Given the description of an element on the screen output the (x, y) to click on. 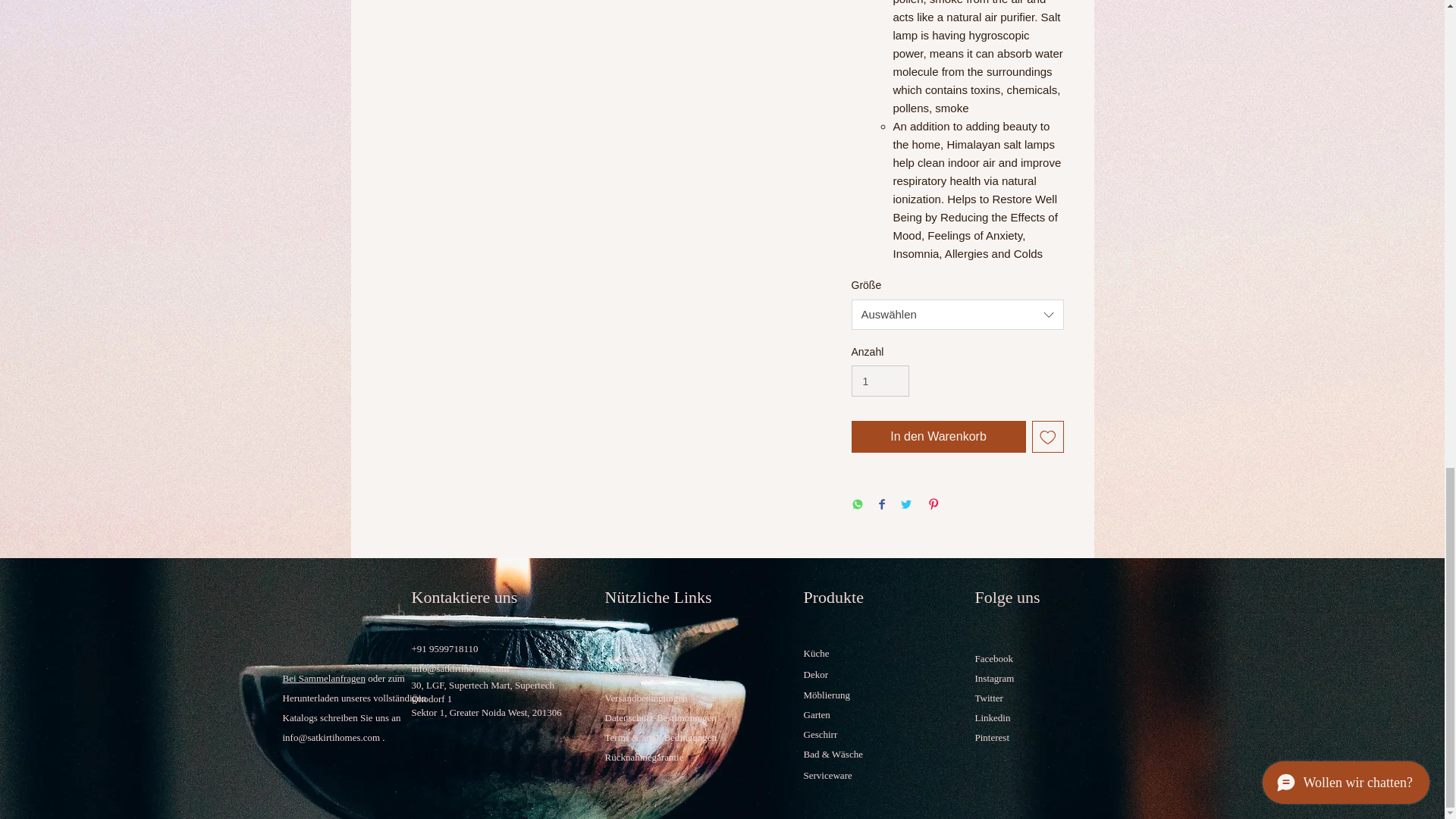
In den Warenkorb (937, 436)
Bei Sammelanfragen (323, 677)
1 (879, 380)
